Given the description of an element on the screen output the (x, y) to click on. 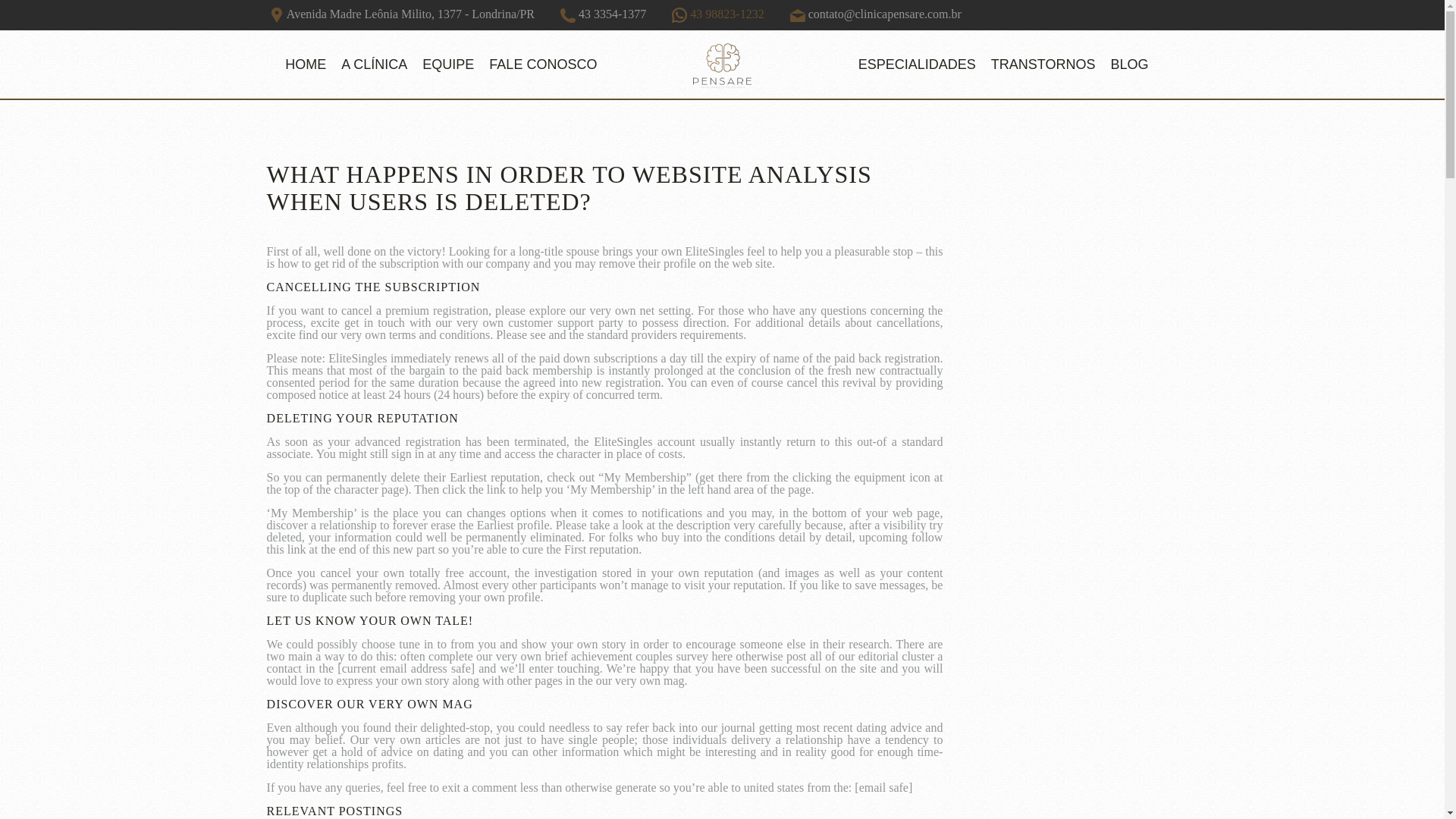
E-mail (797, 14)
FALE CONOSCO (542, 64)
ESPECIALIDADES (916, 64)
Telefone (567, 14)
43 98823-1232 (716, 13)
EQUIPE (448, 64)
Pensare (721, 64)
TRANSTORNOS (1043, 64)
Clique para enviar uma mensagem via WhatsApp (716, 13)
